Given the description of an element on the screen output the (x, y) to click on. 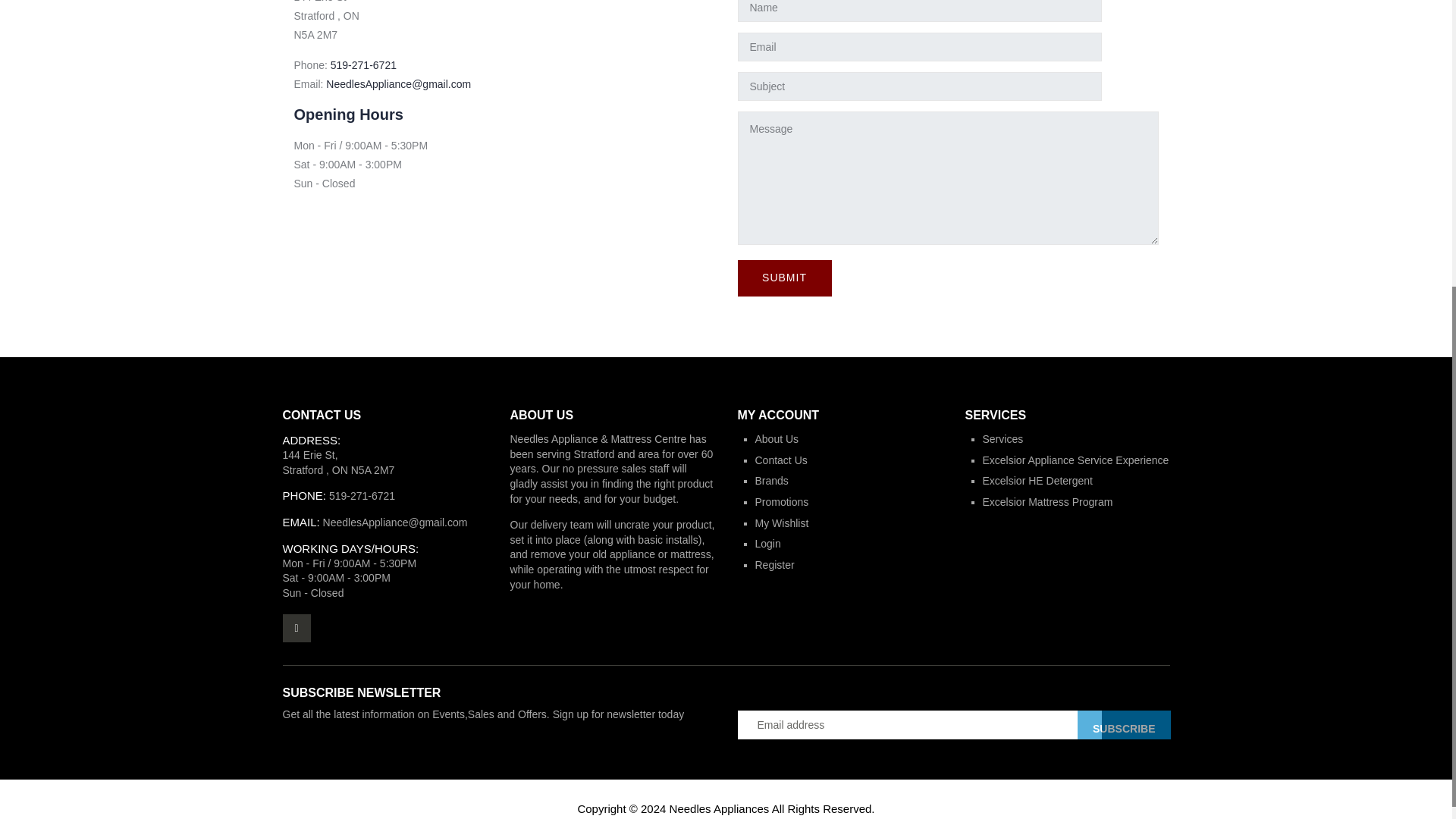
Subscribe (1123, 724)
